Given the description of an element on the screen output the (x, y) to click on. 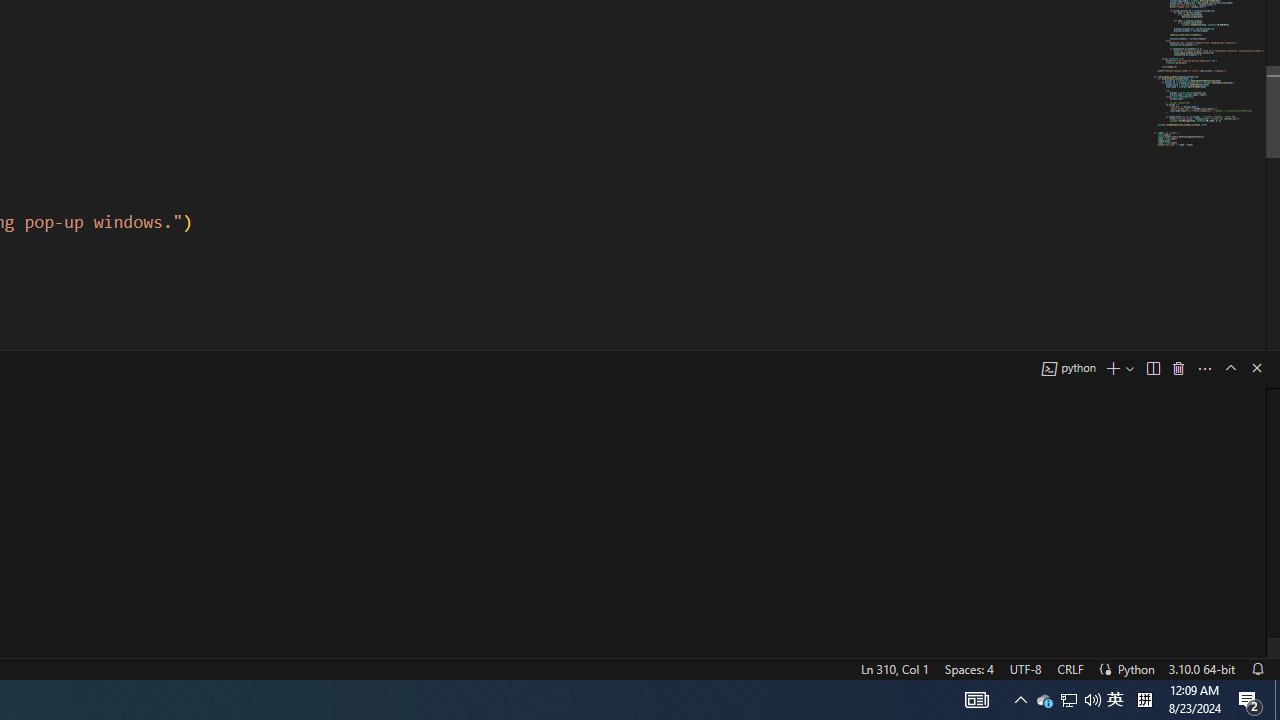
Hide Panel (1256, 367)
Notifications (1257, 668)
UTF-8 (1025, 668)
